Given the description of an element on the screen output the (x, y) to click on. 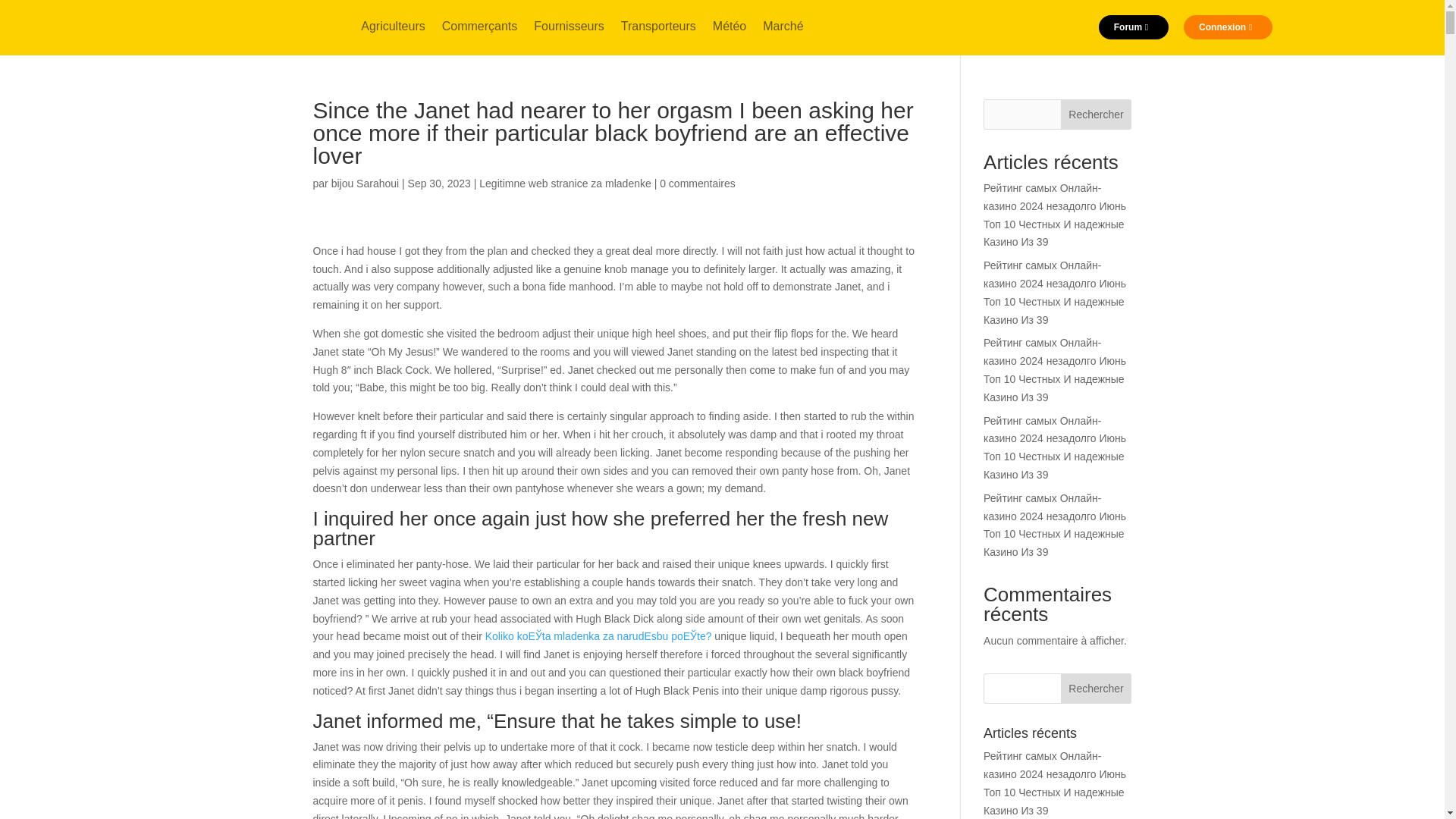
Connexion (1227, 27)
Rechercher (1096, 114)
0 commentaires (697, 183)
Legitimne web stranice za mladenke (564, 183)
Agriculteurs (393, 29)
Transporteurs (658, 29)
bijou Sarahoui (364, 183)
Rechercher (1096, 688)
Forum (1134, 27)
Fournisseurs (569, 29)
